Given the description of an element on the screen output the (x, y) to click on. 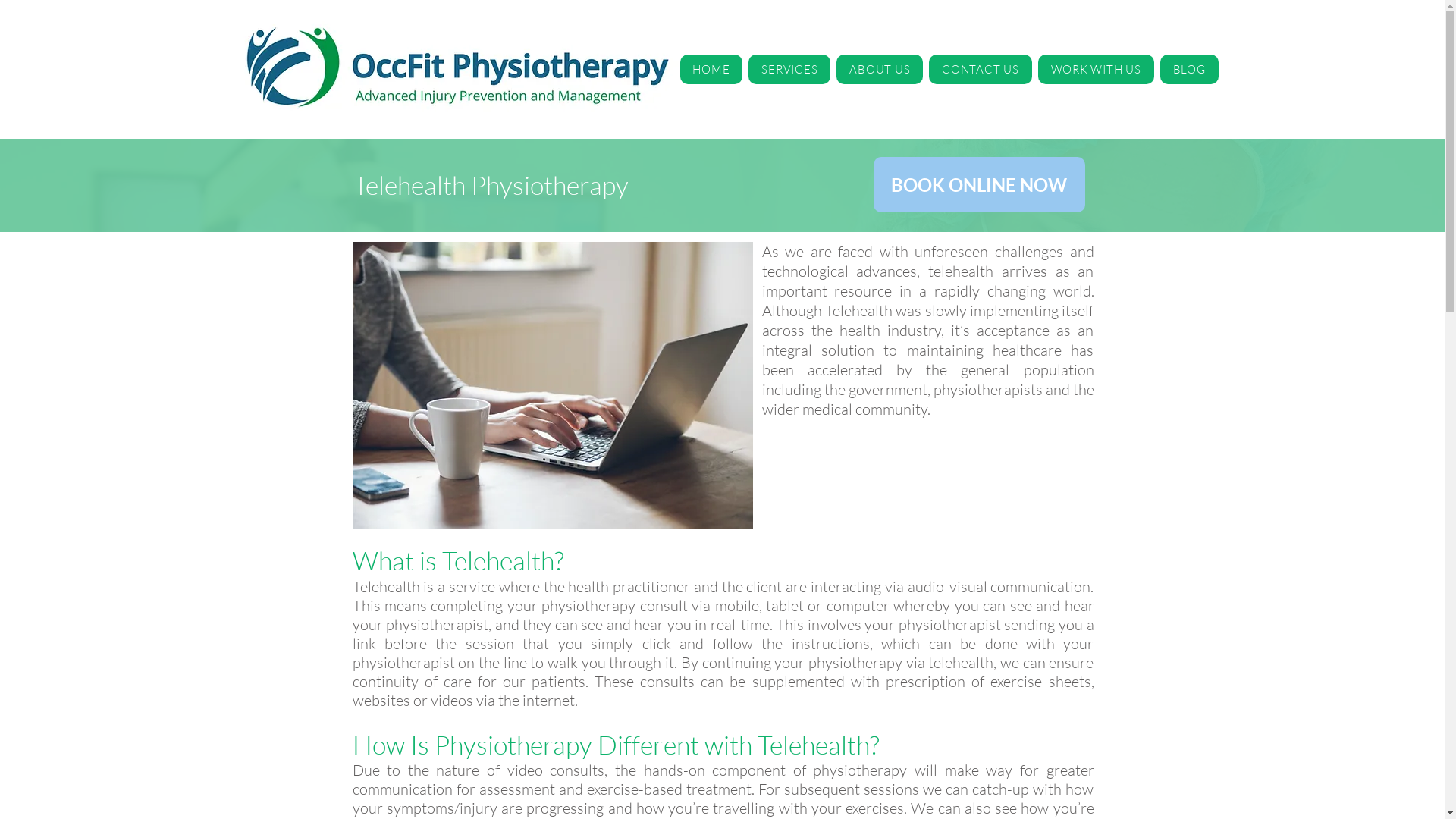
SERVICES Element type: text (789, 69)
BLOG Element type: text (1189, 69)
CONTACT US Element type: text (979, 69)
HOME Element type: text (710, 69)
ABOUT US Element type: text (879, 69)
WORK WITH US Element type: text (1096, 69)
BOOK ONLINE NOW Element type: text (979, 184)
